Given the description of an element on the screen output the (x, y) to click on. 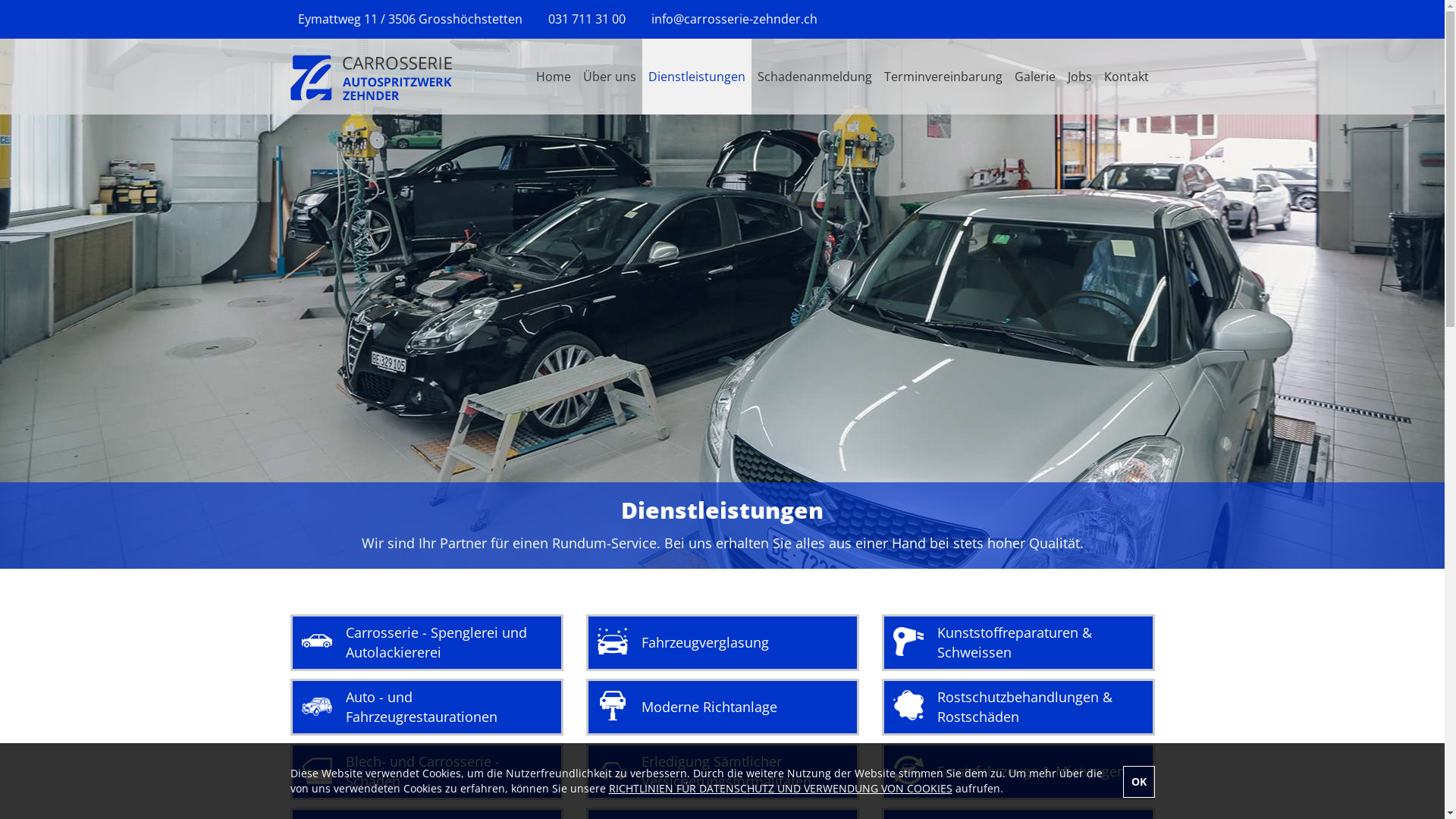
Terminvereinbarung Element type: text (943, 76)
Kontakt Element type: text (1126, 76)
OK Element type: text (1138, 781)
Home Element type: text (552, 76)
info@carrosserie-zehnder.ch Element type: text (733, 18)
Schadenanmeldung Element type: text (813, 76)
Jobs Element type: text (1079, 76)
Dienstleistungen Element type: text (695, 76)
Galerie Element type: text (1034, 76)
